Given the description of an element on the screen output the (x, y) to click on. 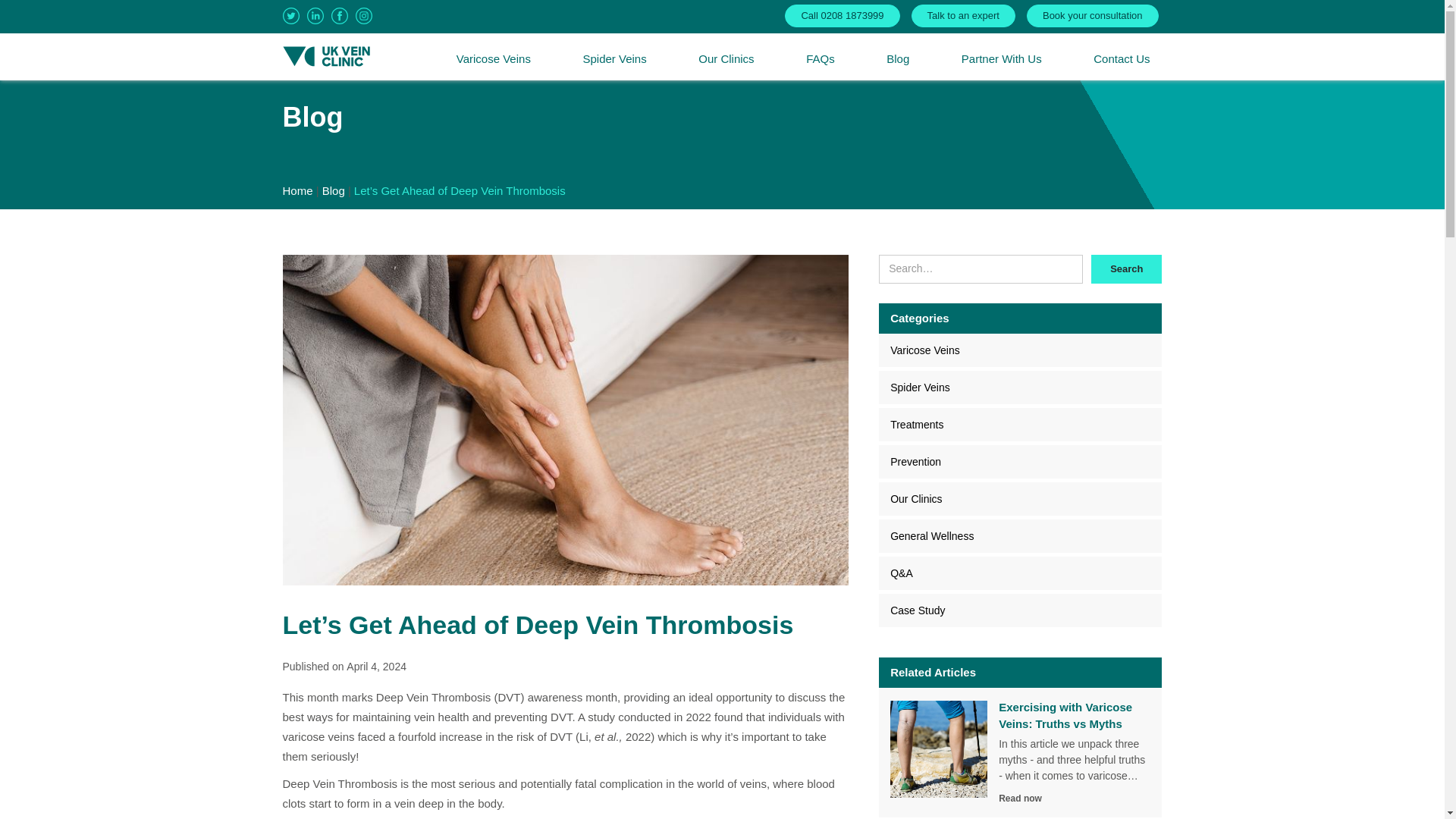
Search (1125, 268)
Book your consultation (1092, 15)
Search (1125, 268)
Talk to an expert (962, 15)
Customer reviews powered by Trustpilot (667, 17)
Call 0208 1873999 (841, 15)
